Given the description of an element on the screen output the (x, y) to click on. 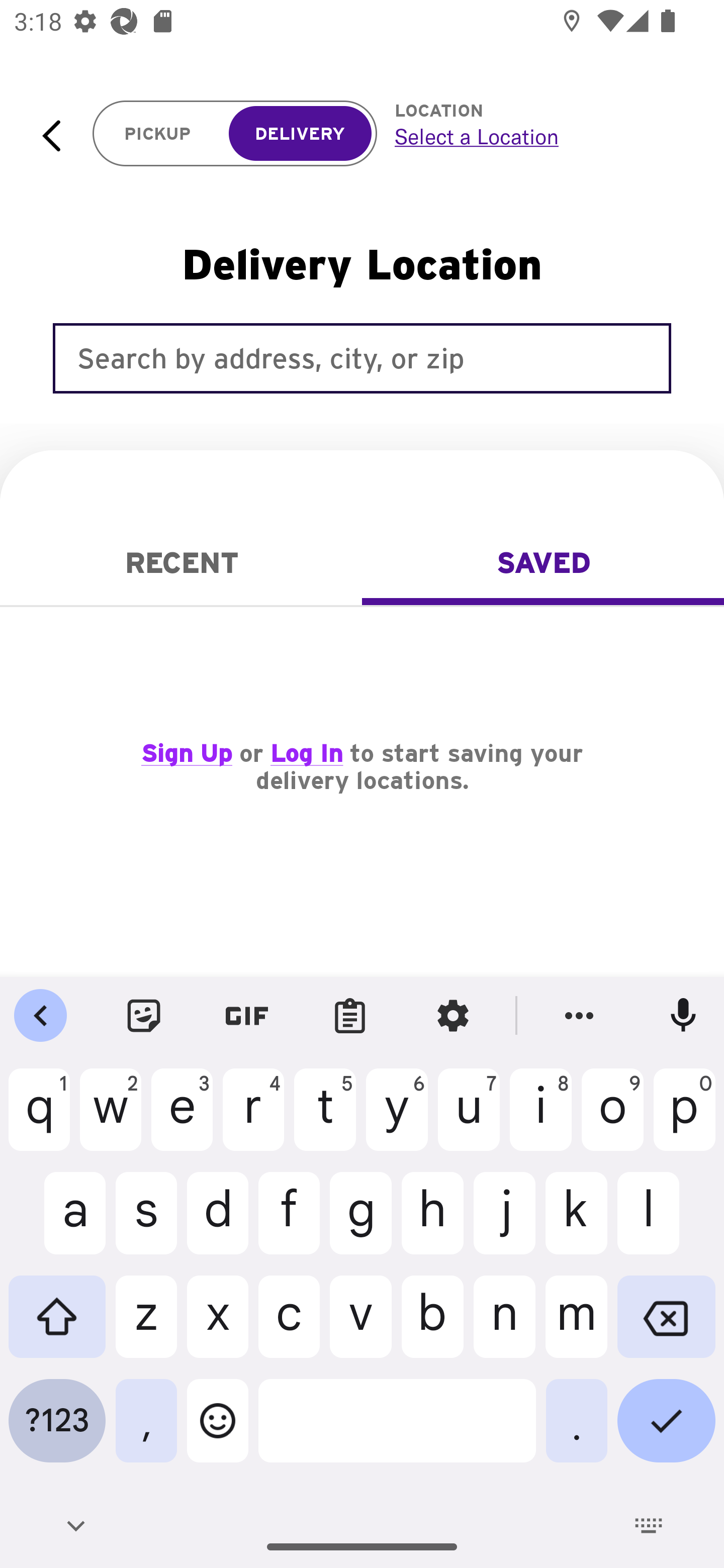
PICKUP (157, 133)
DELIVERY (299, 133)
Select a Location (536, 136)
Search by address, city, or zip (361, 358)
Recent RECENT (181, 562)
